Given the description of an element on the screen output the (x, y) to click on. 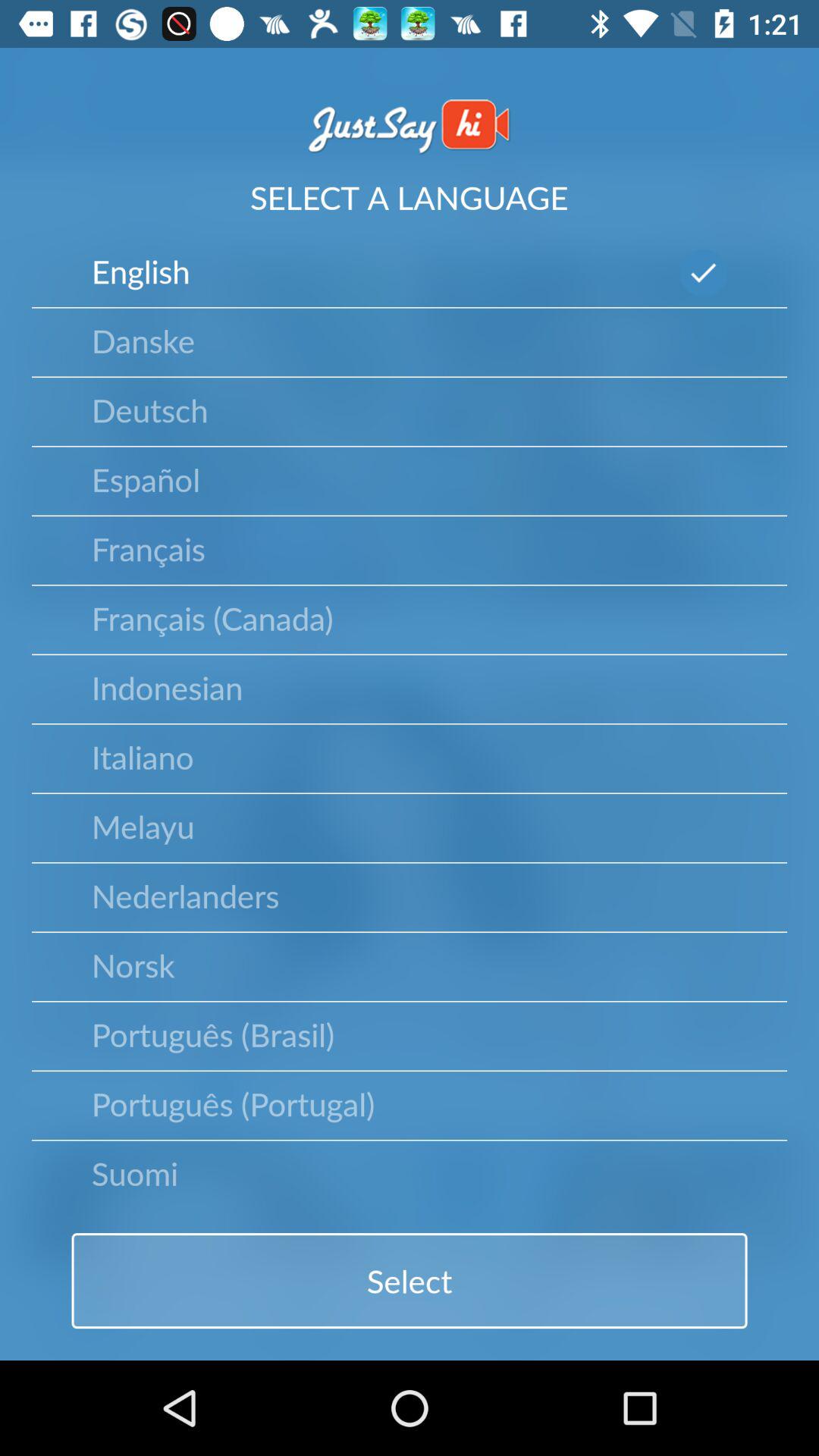
launch melayu (142, 826)
